Given the description of an element on the screen output the (x, y) to click on. 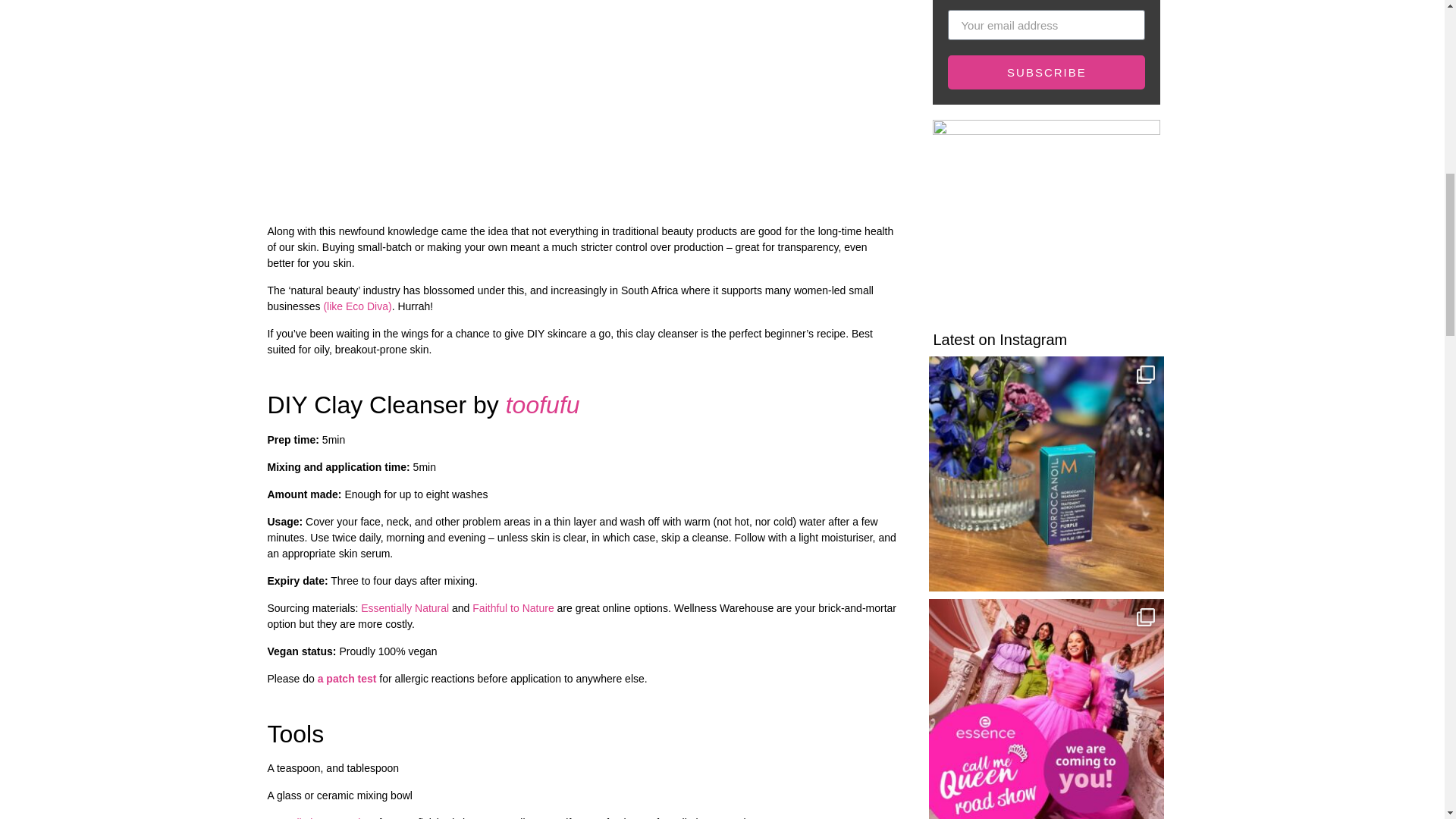
a patch test (347, 678)
Essentially Natural (406, 607)
toofufu (542, 404)
Faithful to Nature (512, 607)
small glass container (325, 817)
